Given the description of an element on the screen output the (x, y) to click on. 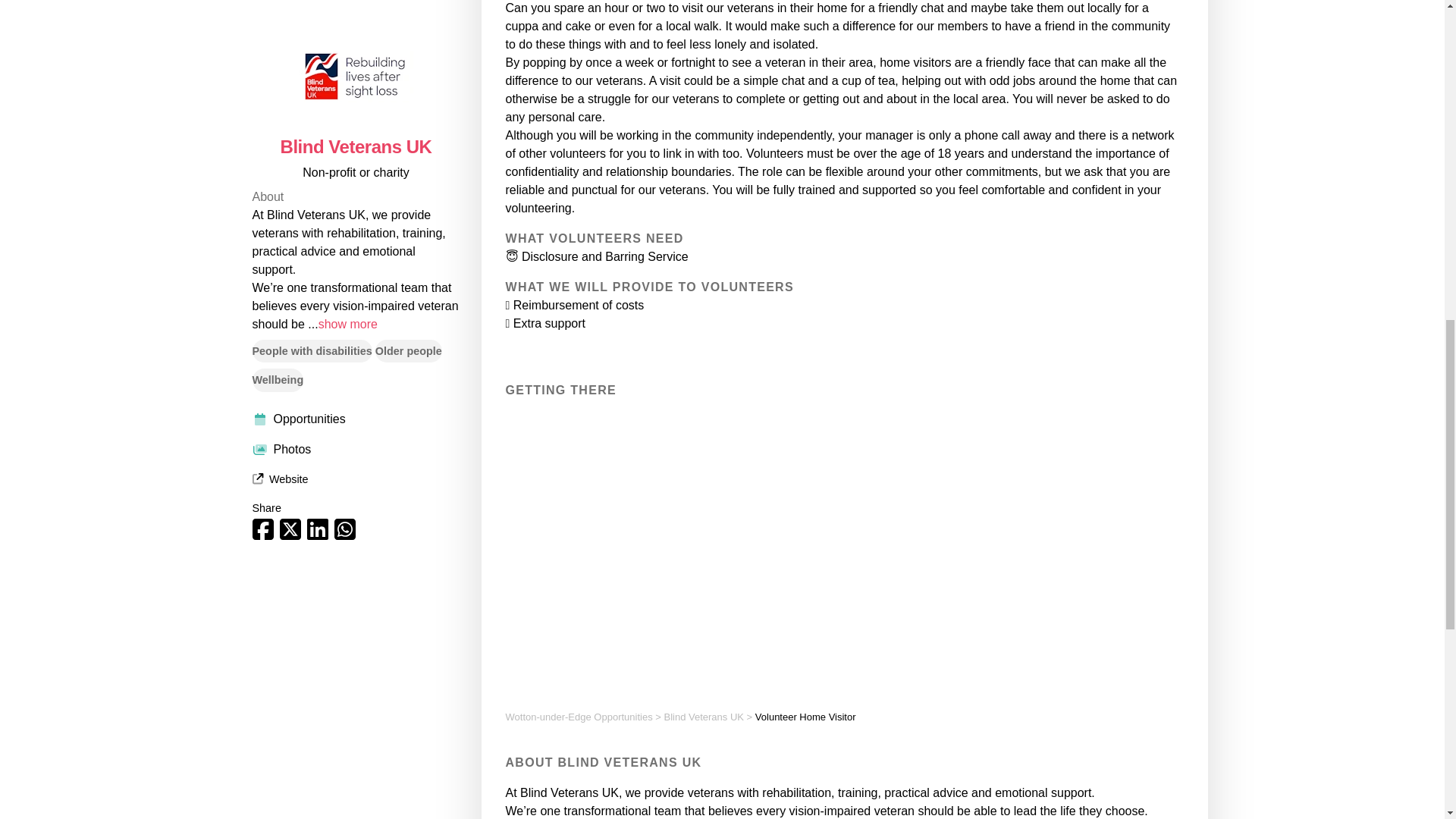
Wotton-under-Edge Opportunities (578, 716)
Blind Veterans UK (703, 716)
